Given the description of an element on the screen output the (x, y) to click on. 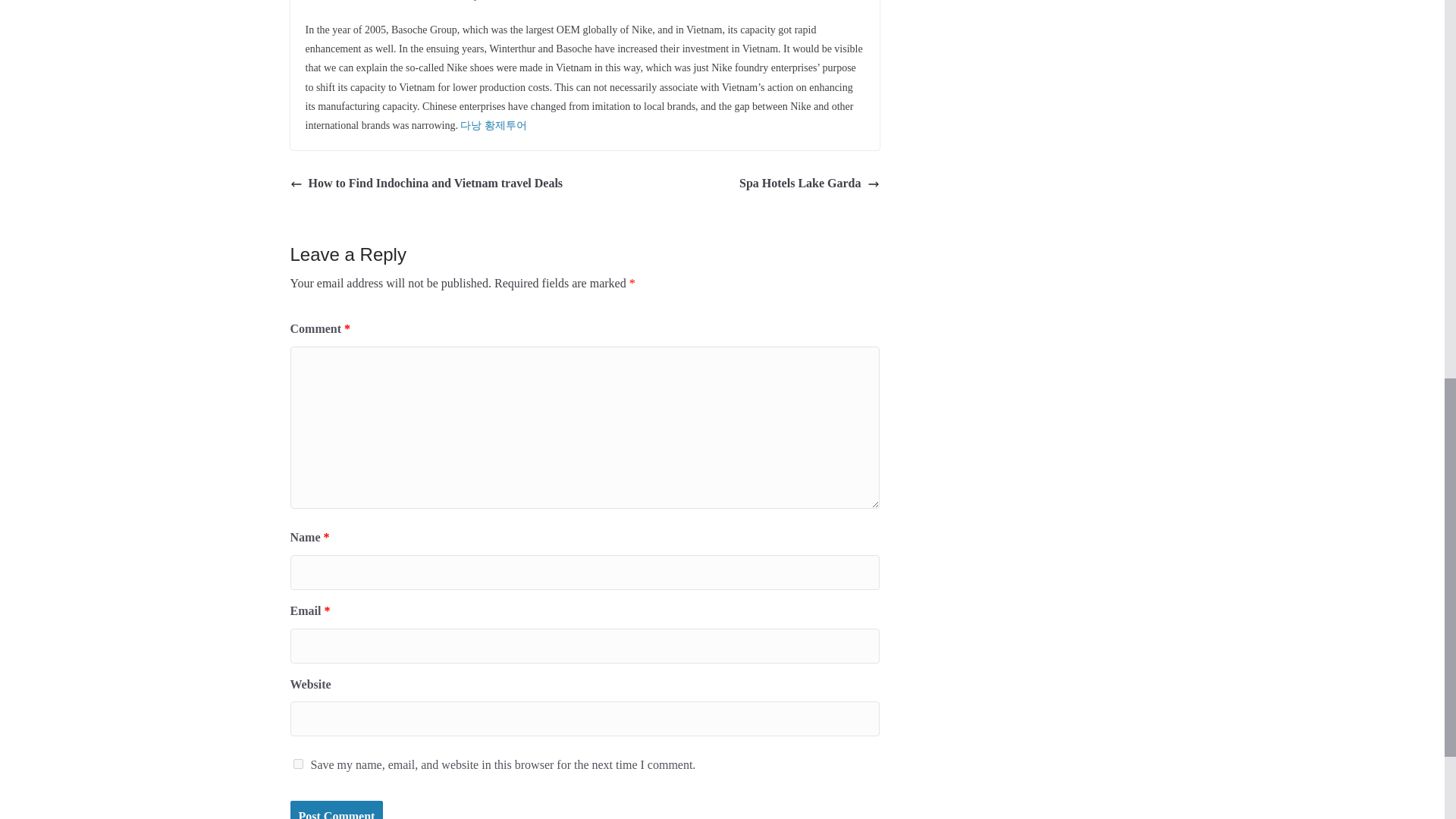
Spa Hotels Lake Garda (809, 183)
Post Comment (335, 809)
yes (297, 764)
How to Find Indochina and Vietnam travel Deals (425, 183)
Post Comment (335, 809)
